Given the description of an element on the screen output the (x, y) to click on. 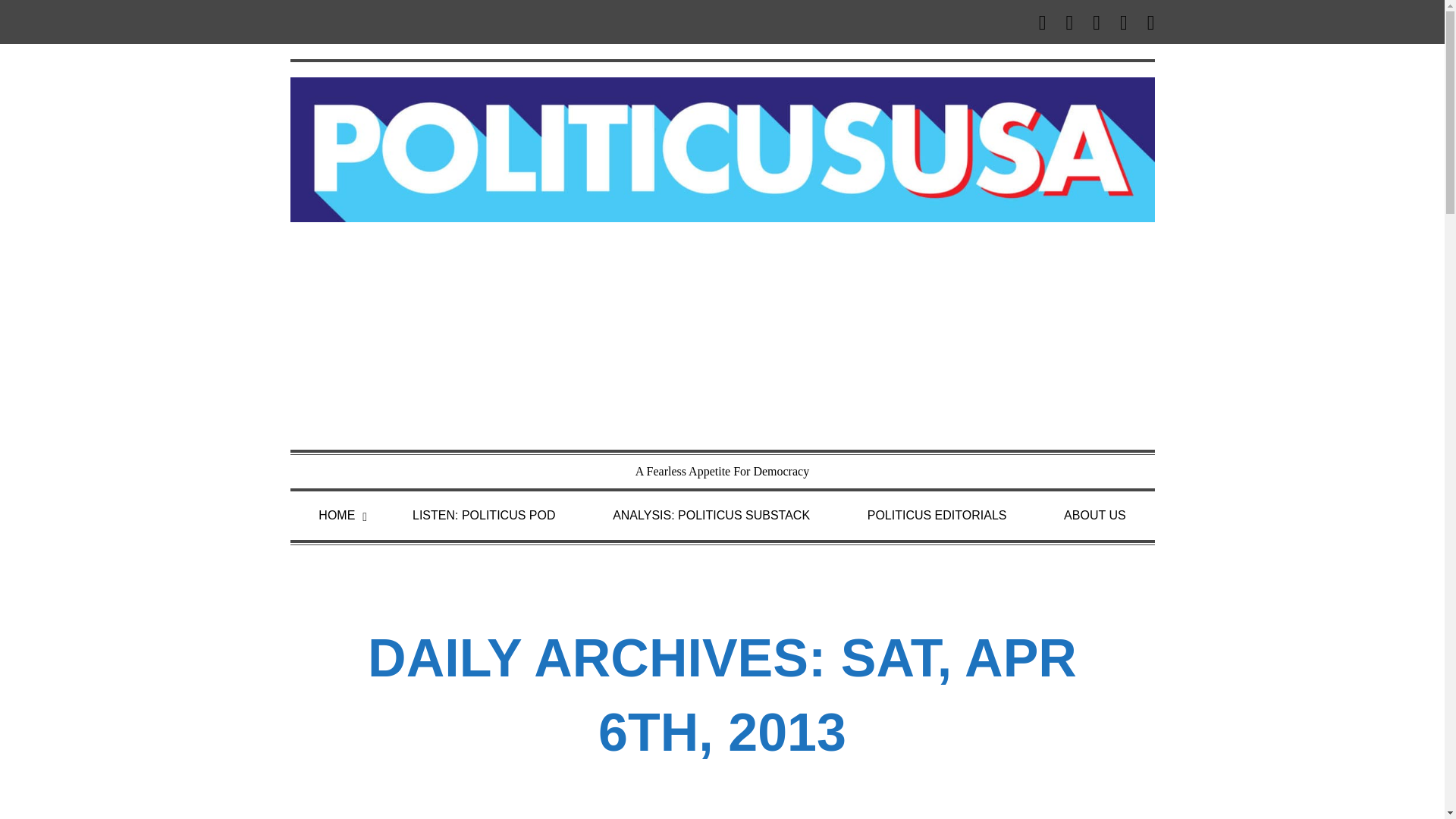
POLITICUS EDITORIALS (936, 515)
ANALYSIS: POLITICUS SUBSTACK (710, 515)
Go back to home (721, 148)
ABOUT US (1094, 515)
LISTEN: POLITICUS POD (483, 515)
HOME (335, 515)
